Given the description of an element on the screen output the (x, y) to click on. 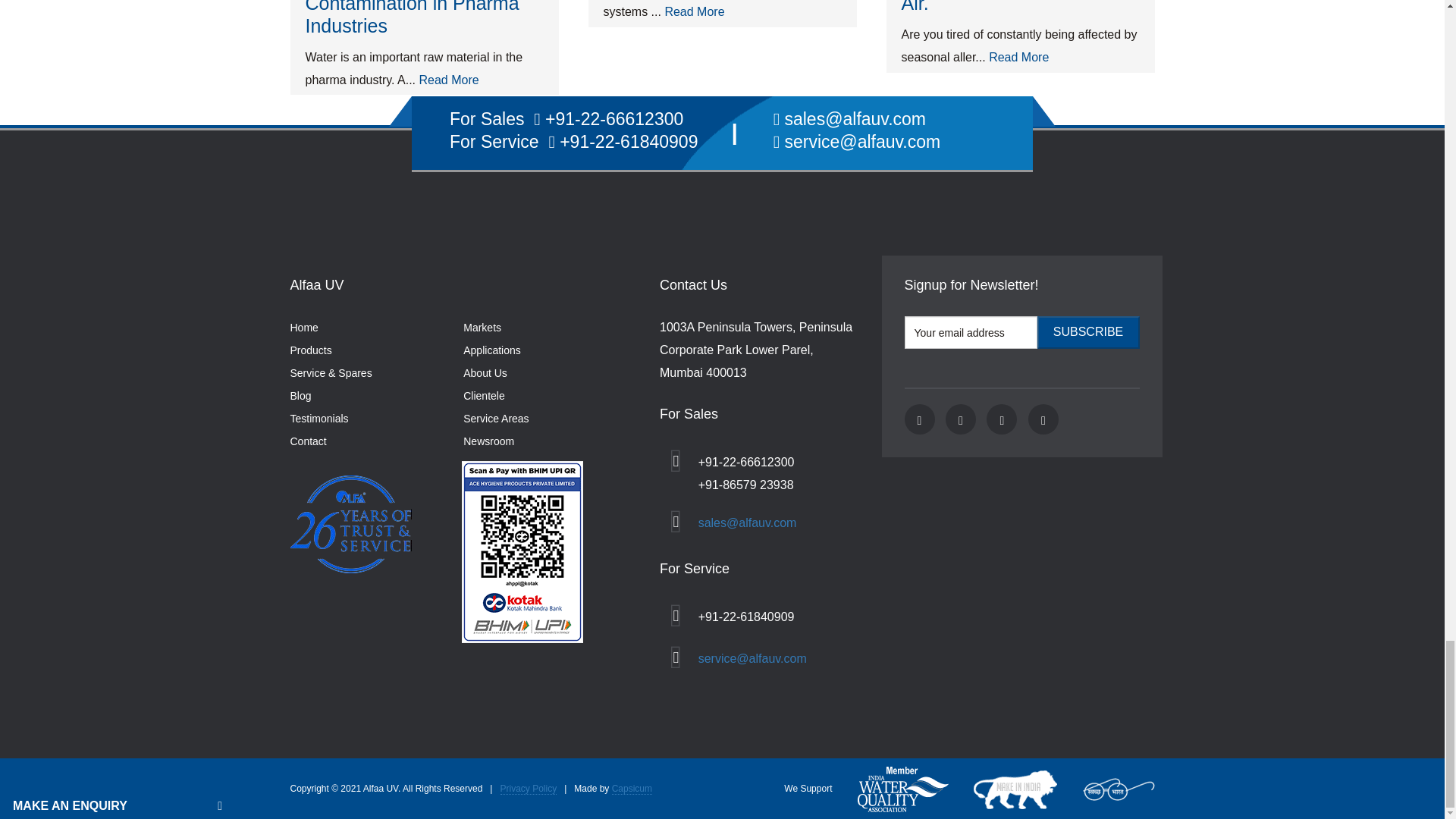
Subscribe (1088, 332)
